Given the description of an element on the screen output the (x, y) to click on. 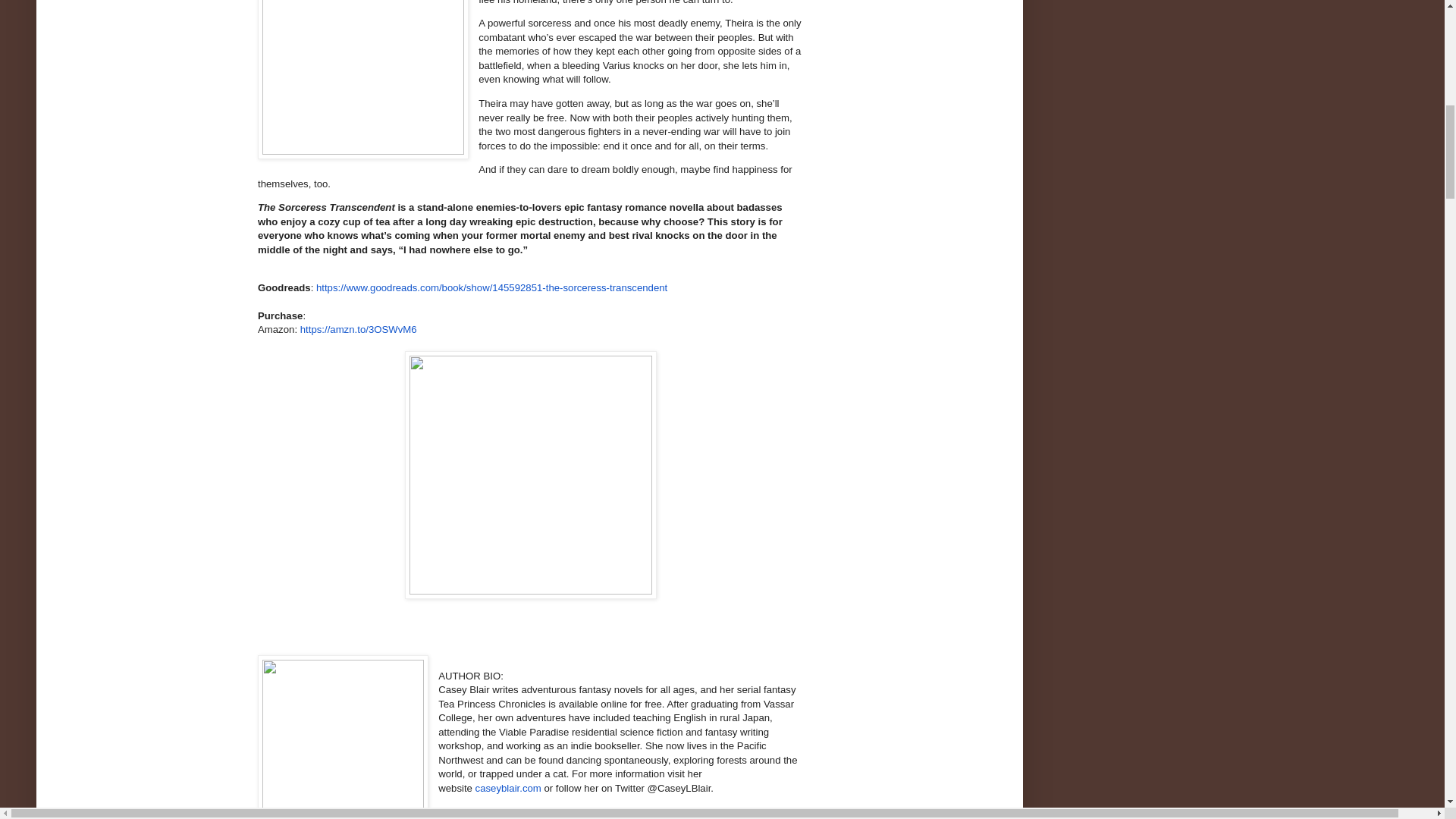
caseyblair.com (508, 787)
